Given the description of an element on the screen output the (x, y) to click on. 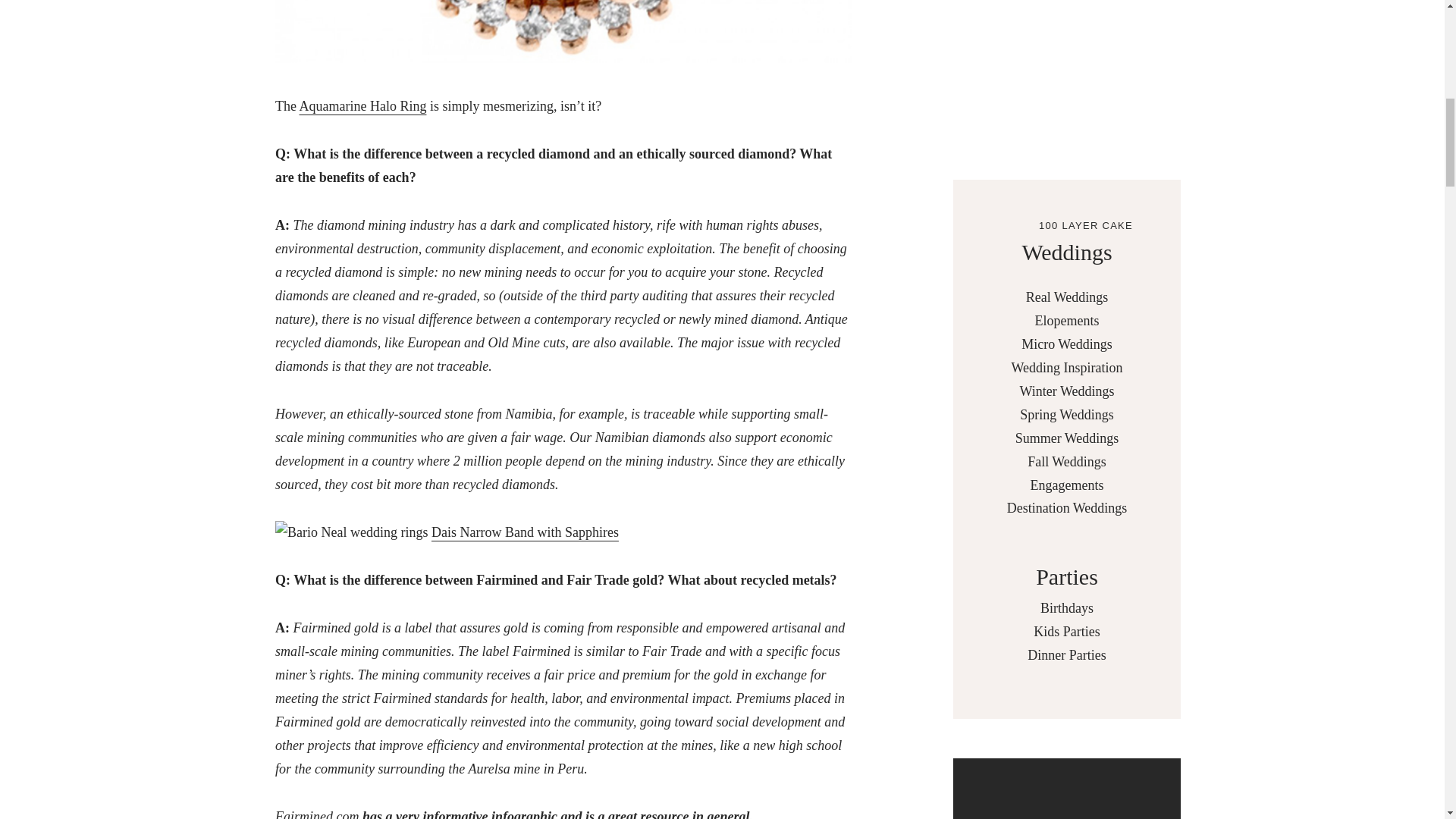
Fairmined.com (316, 814)
Dais Narrow Band with Sapphires (524, 531)
Aquamarine Halo Ring (362, 105)
